Given the description of an element on the screen output the (x, y) to click on. 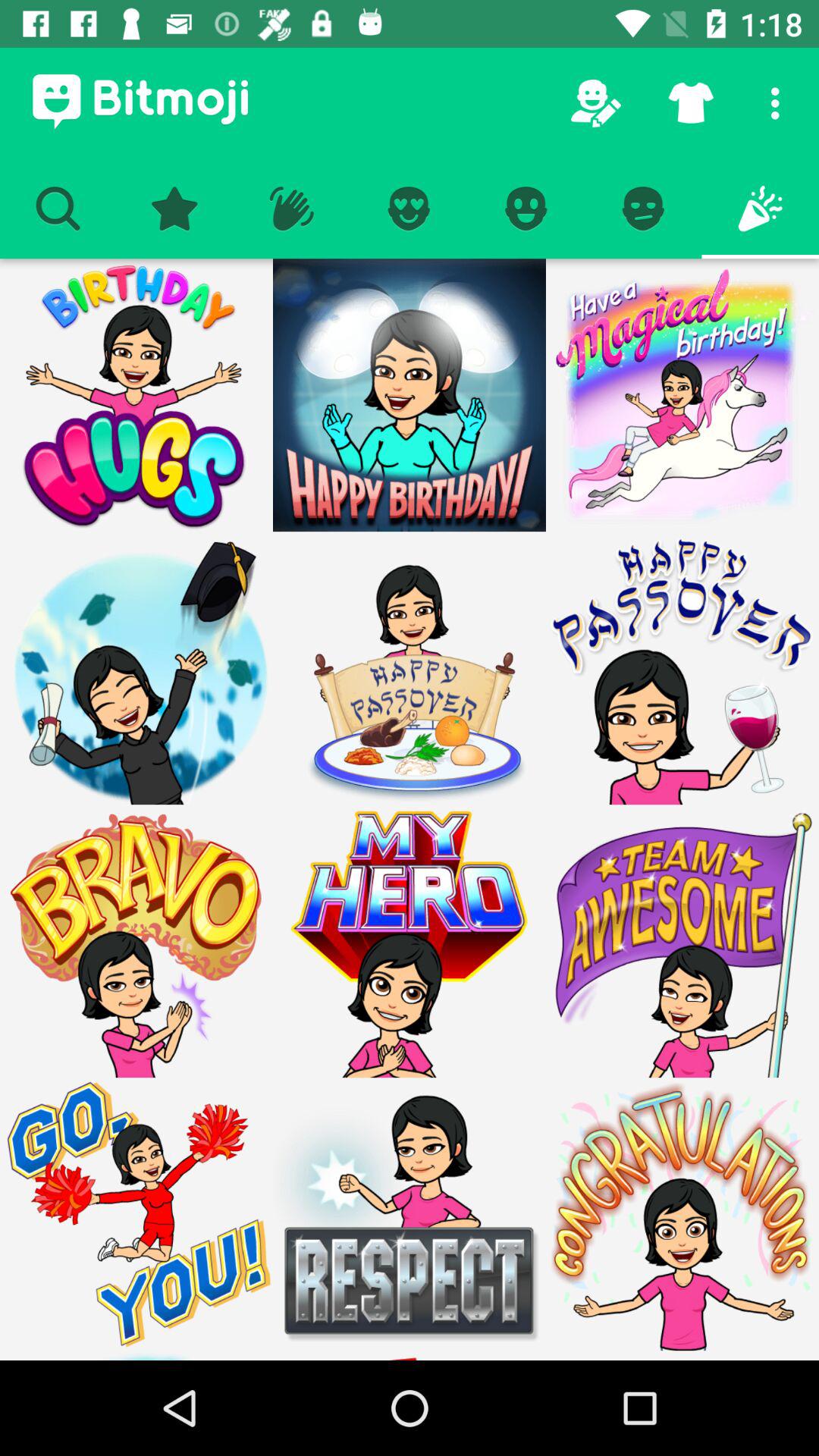
respect (409, 1213)
